Given the description of an element on the screen output the (x, y) to click on. 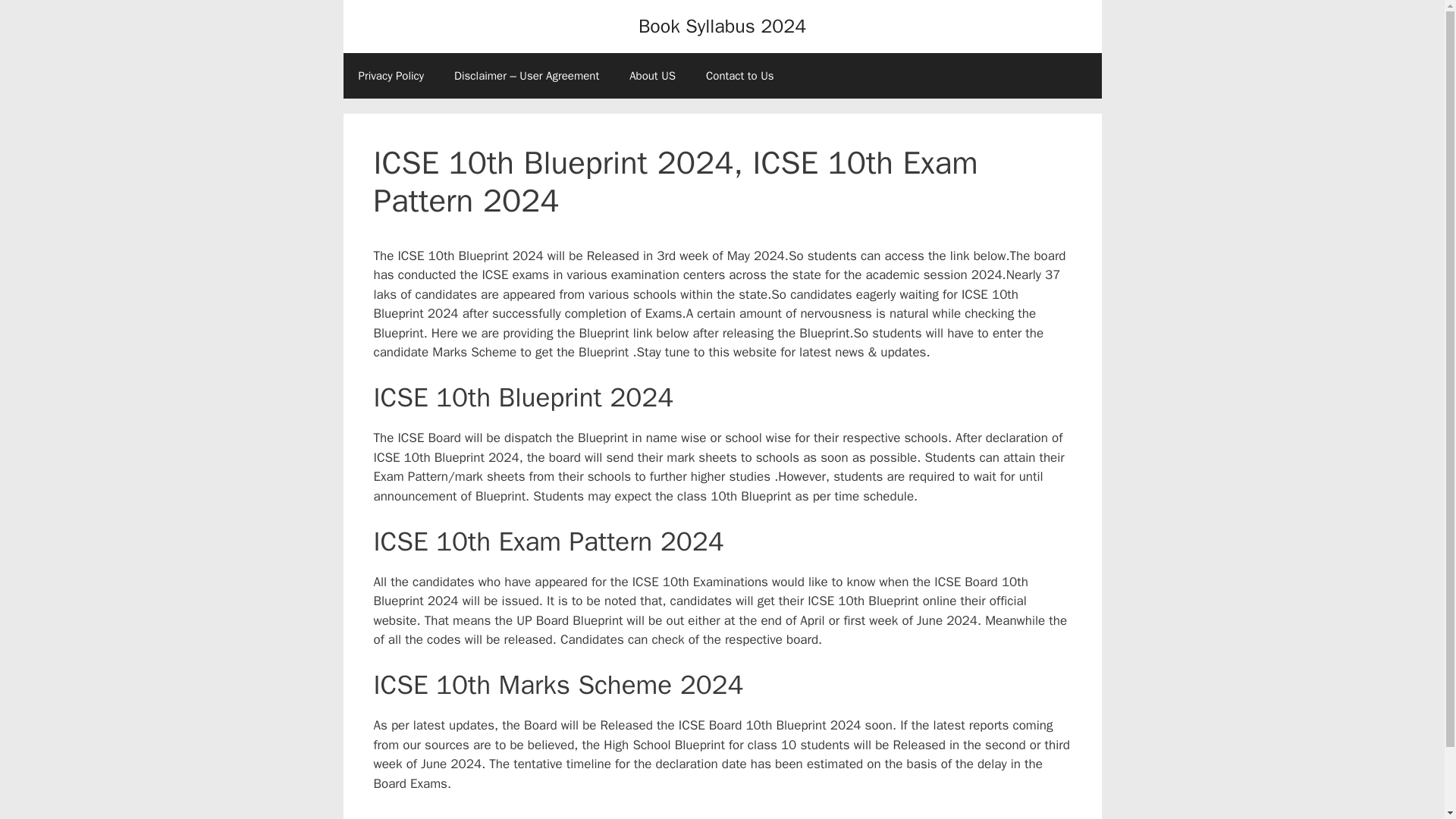
Contact to Us (739, 75)
Privacy Policy (390, 75)
Book Syllabus 2024 (722, 25)
About US (652, 75)
